Given the description of an element on the screen output the (x, y) to click on. 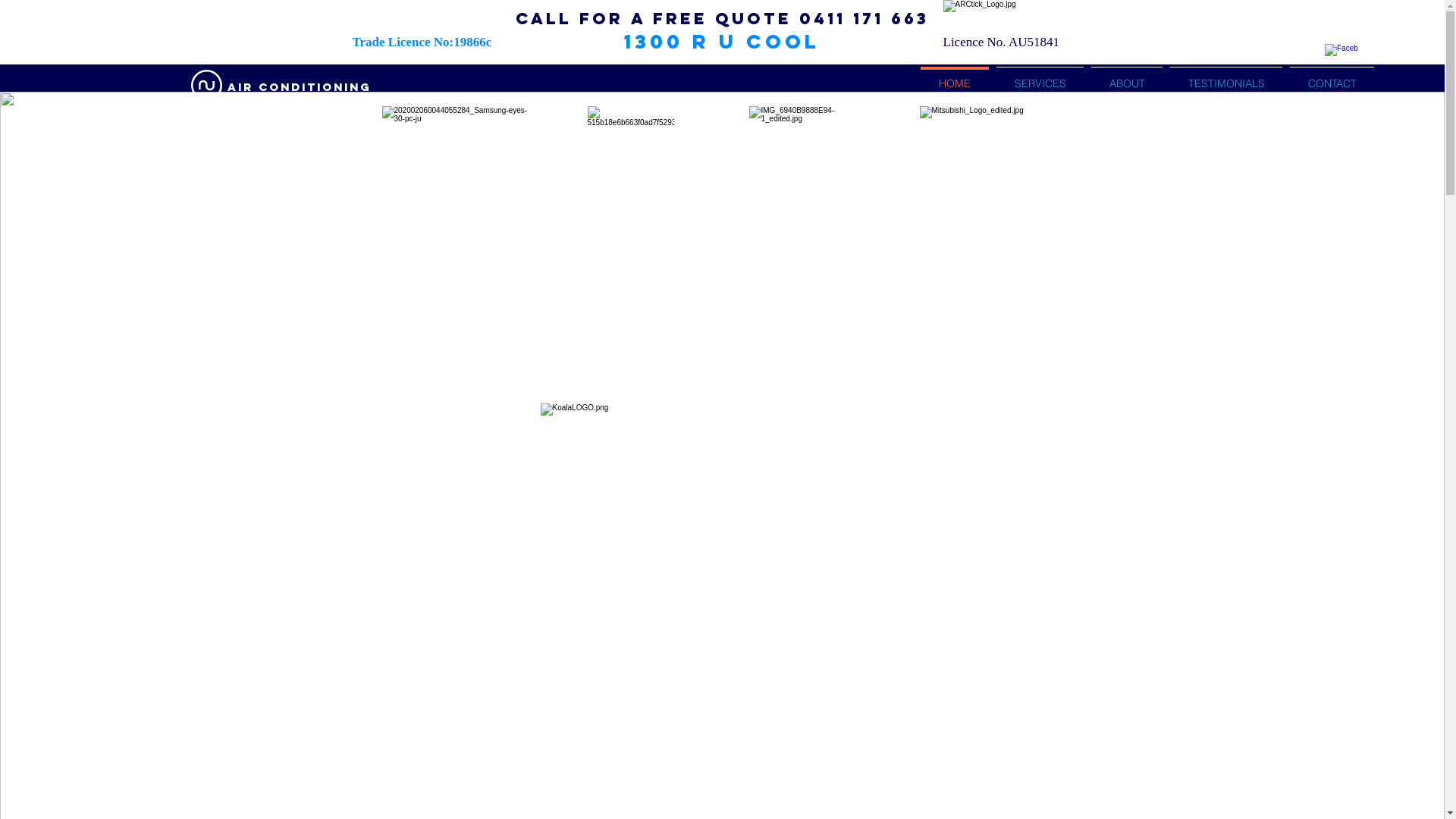
SERVICES Element type: text (1039, 76)
TESTIMONIALS Element type: text (1226, 76)
CONTACT Element type: text (1331, 76)
ABOUT Element type: text (1126, 76)
AIR conditioning Element type: text (299, 87)
HOME Element type: text (954, 76)
